Given the description of an element on the screen output the (x, y) to click on. 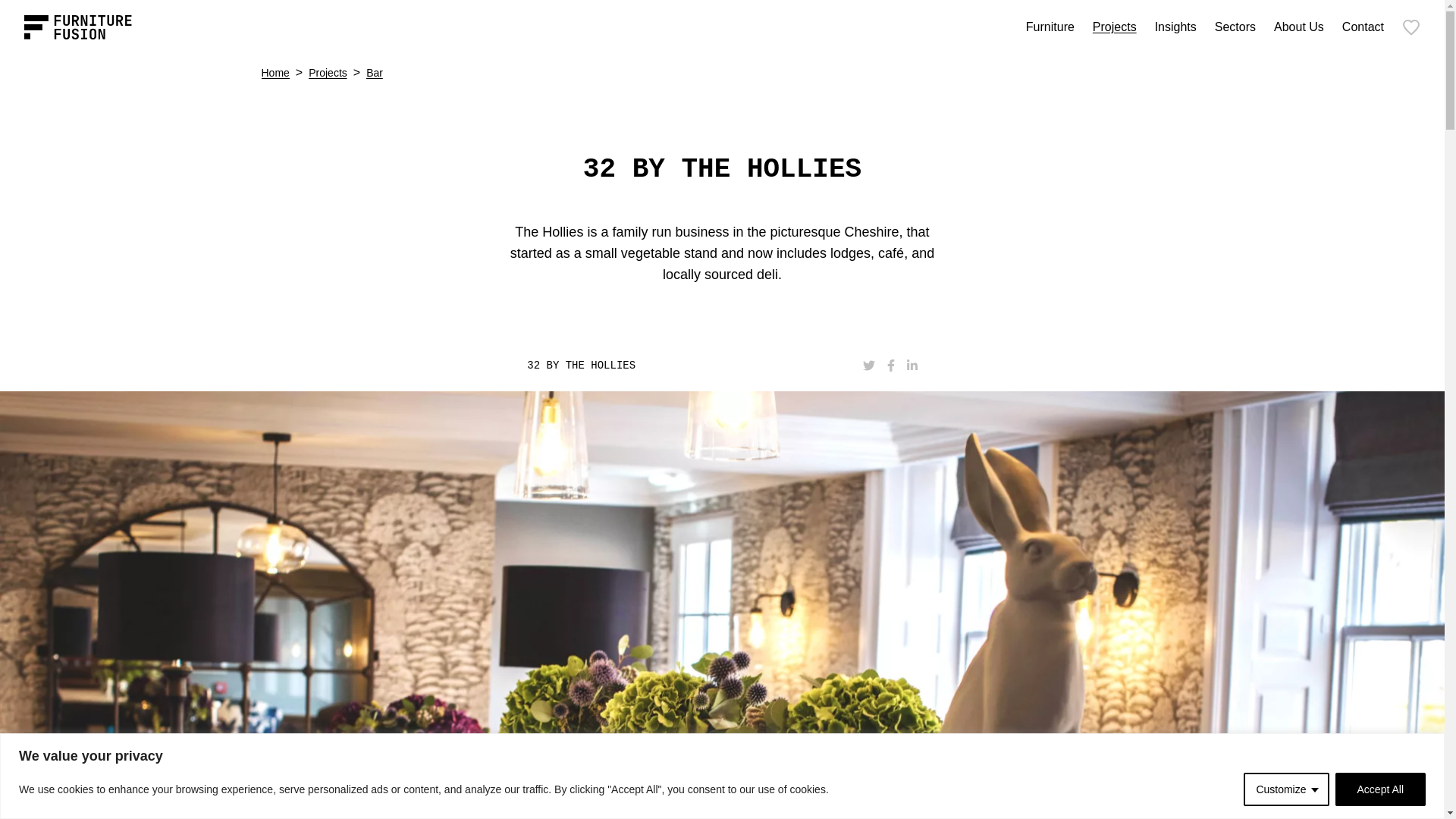
Customize (1285, 788)
Accept All (1380, 788)
32 BY THE HOLLIES (721, 365)
32 BY THE HOLLIES (721, 169)
Furniture (1050, 27)
